Given the description of an element on the screen output the (x, y) to click on. 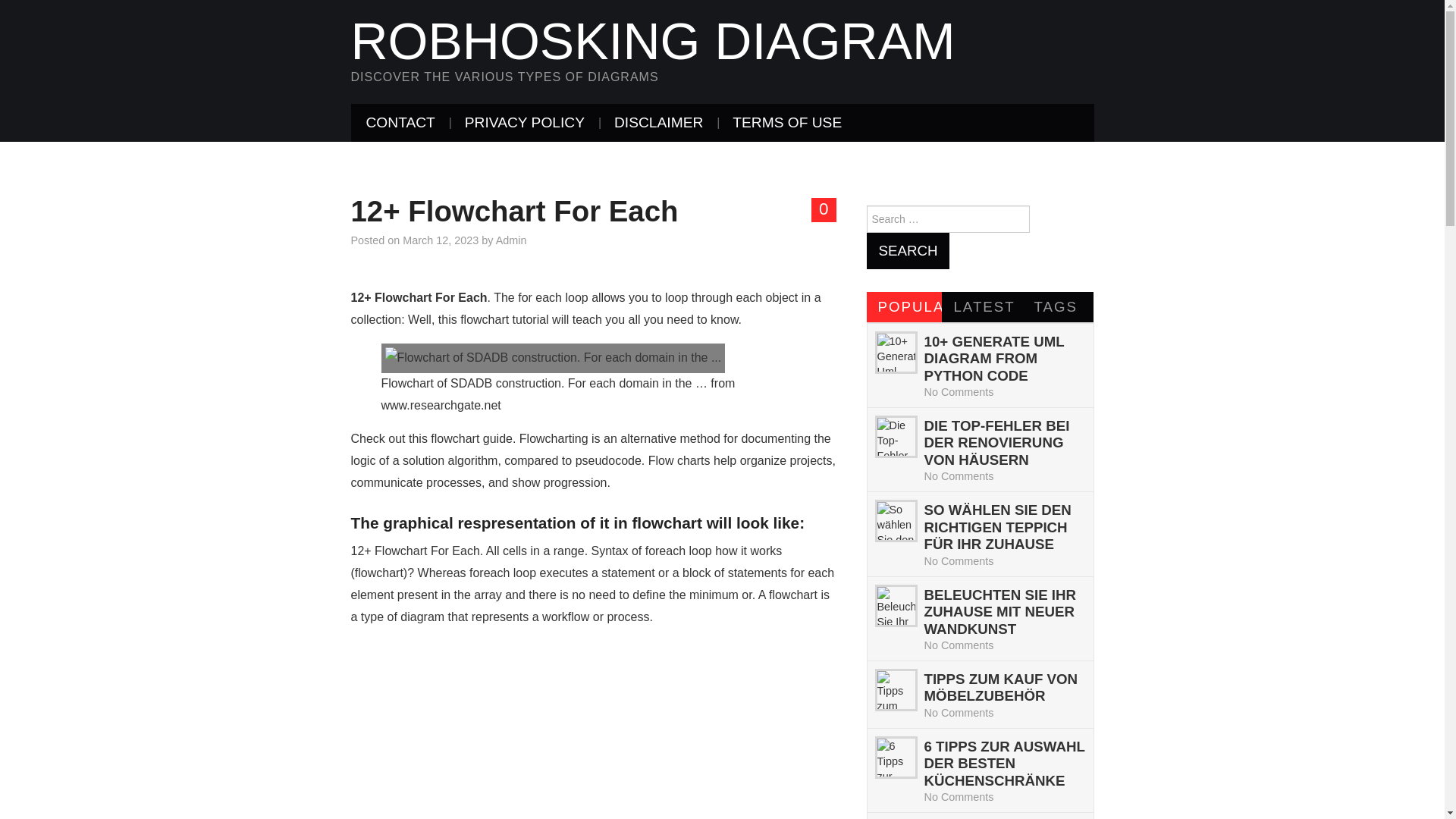
ROBHOSKING DIAGRAM (652, 40)
March 12, 2023 (441, 240)
View all posts by Admin (511, 240)
CONTACT (399, 122)
Search for: (947, 218)
Search (907, 250)
Robhosking Diagram (652, 40)
Admin (511, 240)
Search (907, 250)
TERMS OF USE (787, 122)
Beleuchten Sie Ihr Zuhause mit neuer Wandkunst (895, 605)
4:36 pm (441, 240)
Search (907, 250)
Beleuchten Sie Ihr Zuhause mit neuer Wandkunst (999, 612)
POPULAR (904, 306)
